Given the description of an element on the screen output the (x, y) to click on. 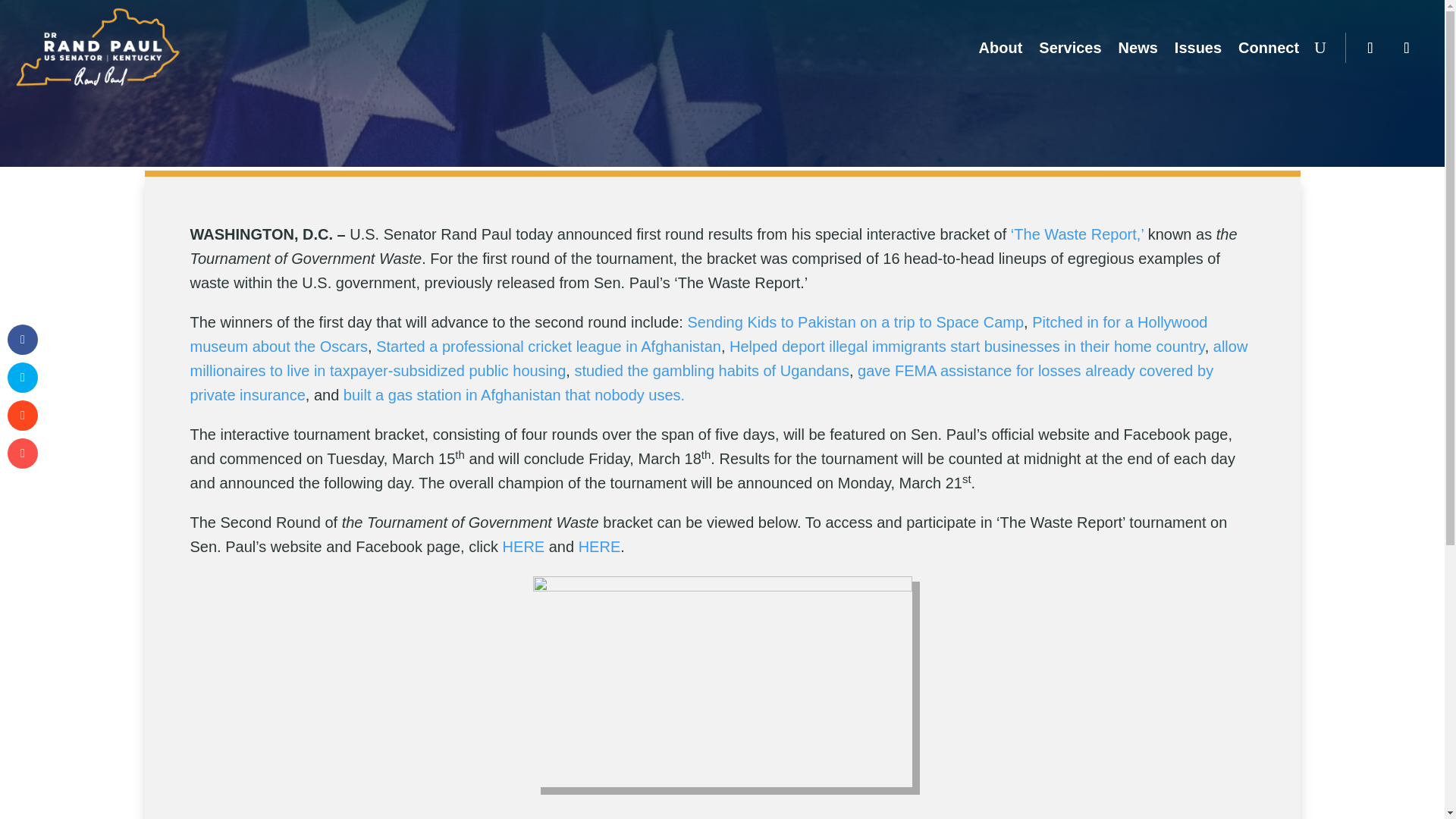
Connect (1268, 47)
Services (1069, 47)
News (1137, 47)
Sending Kids to Pakistan on a trip to Space Camp (855, 321)
HERE (523, 546)
HERE (599, 546)
Follow on Facebook (1370, 47)
studied the gambling habits of Ugandans (710, 370)
About (1000, 47)
Started a professional cricket league in Afghanistan (547, 346)
built a gas station in Afghanistan that nobody uses. (513, 394)
Issues (1197, 47)
